Given the description of an element on the screen output the (x, y) to click on. 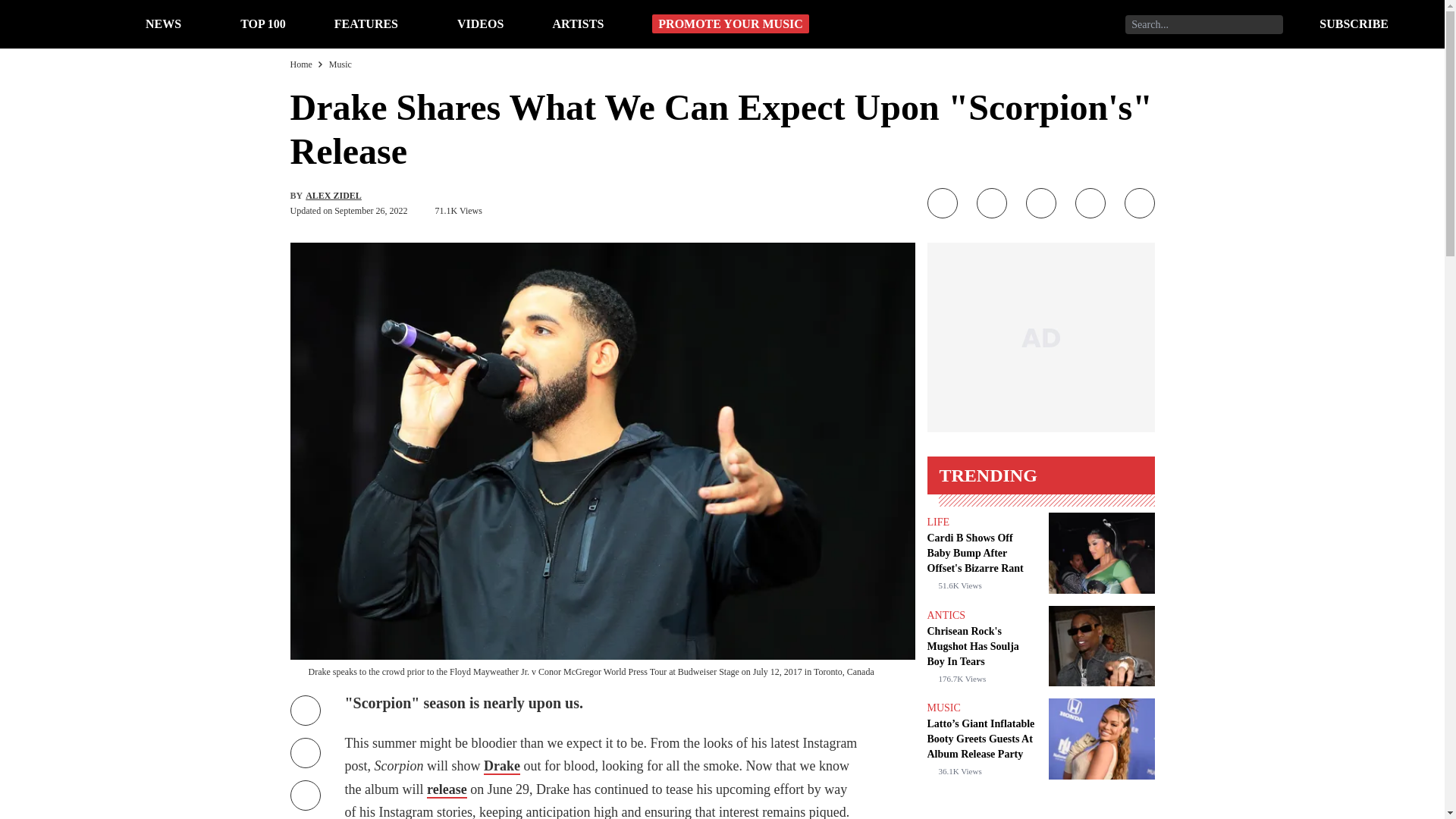
LIFE (937, 521)
ANTICS (945, 614)
ALEX ZIDEL (333, 195)
release (446, 790)
September 26, 2022 (370, 210)
Cardi B Shows Off Baby Bump After Offset's Bizarre Rant (980, 553)
Home (300, 63)
Chrisean Rock's Mugshot Has Soulja Boy In Tears (980, 646)
Music (340, 63)
Drake (501, 766)
